Given the description of an element on the screen output the (x, y) to click on. 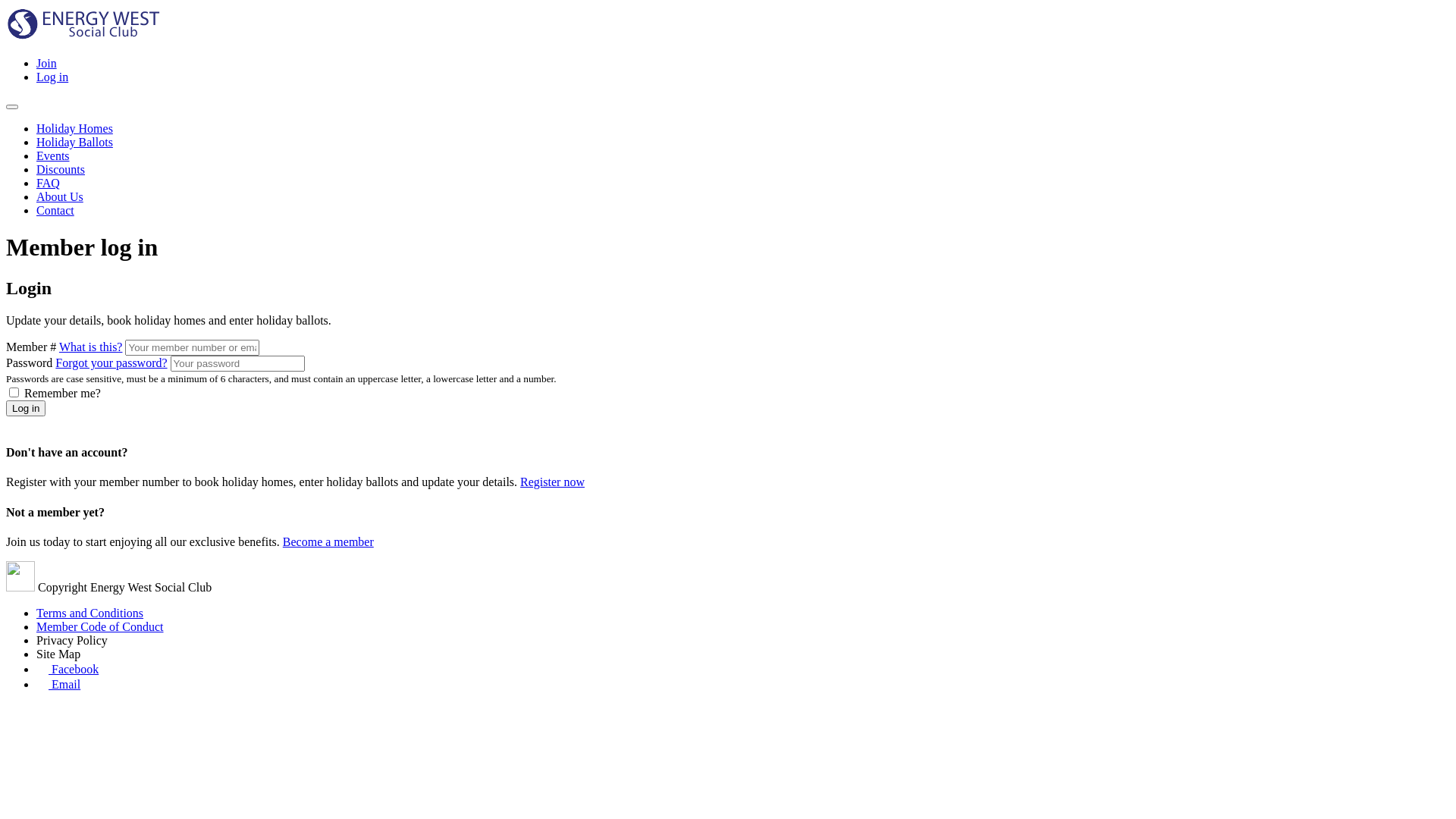
Log in Element type: text (25, 408)
What is this? Element type: text (90, 346)
FAQ Element type: text (47, 182)
Log in Element type: text (52, 76)
Terms and Conditions Element type: text (89, 612)
Discounts Element type: text (60, 169)
Forgot your password? Element type: text (110, 362)
Events Element type: text (52, 155)
Contact Element type: text (55, 209)
Facebook Element type: text (67, 668)
About Us Element type: text (59, 196)
Privacy Policy Element type: text (71, 639)
Become a member Element type: text (327, 541)
Member Code of Conduct Element type: text (99, 626)
Holiday Ballots Element type: text (74, 141)
Join Element type: text (46, 62)
Email Element type: text (58, 683)
Register now Element type: text (552, 481)
Site Map Element type: text (58, 653)
Holiday Homes Element type: text (74, 128)
